Given the description of an element on the screen output the (x, y) to click on. 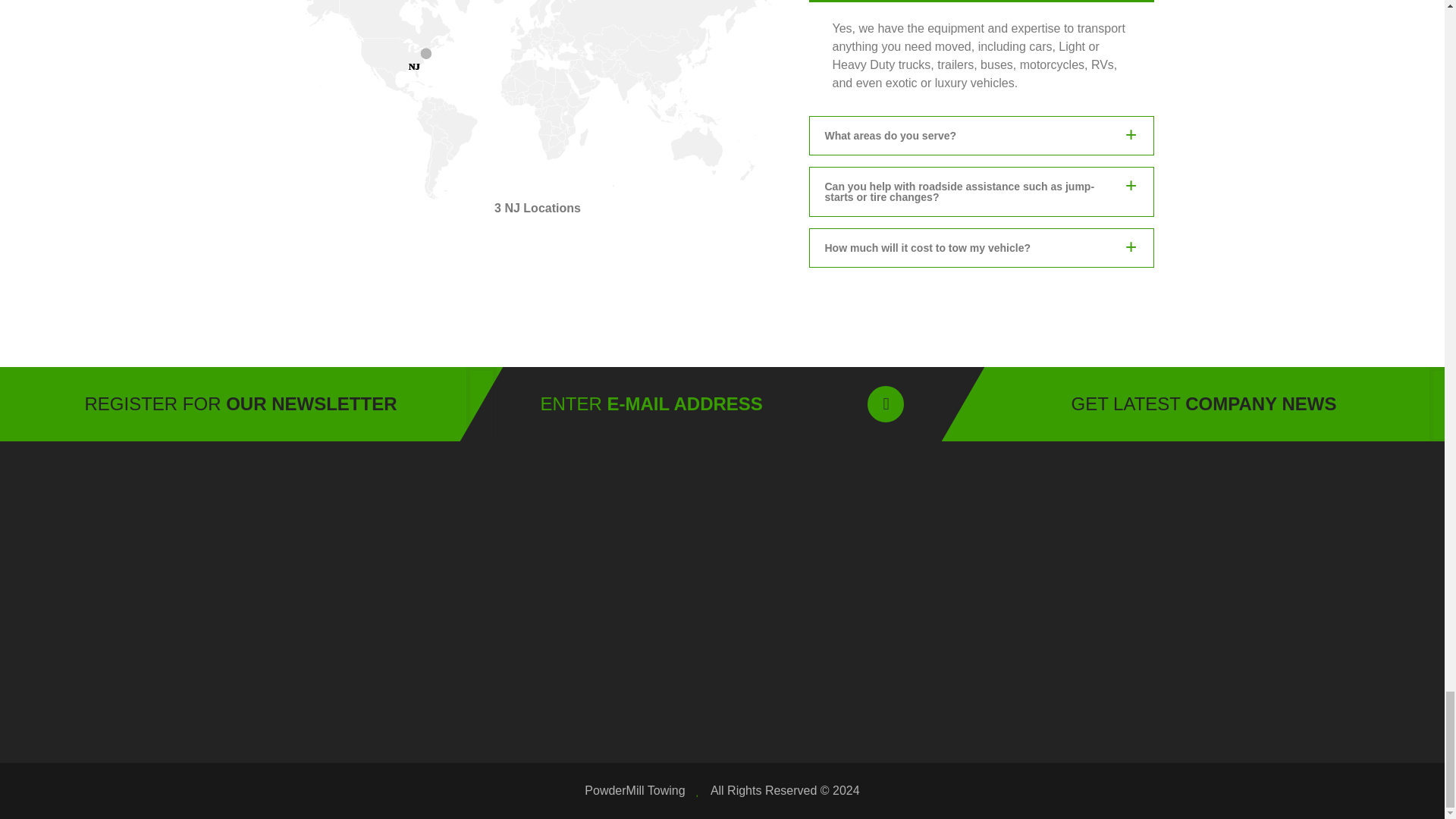
What areas do you serve? (536, 99)
Do you provide service for all types of vehicles? (980, 135)
